Given the description of an element on the screen output the (x, y) to click on. 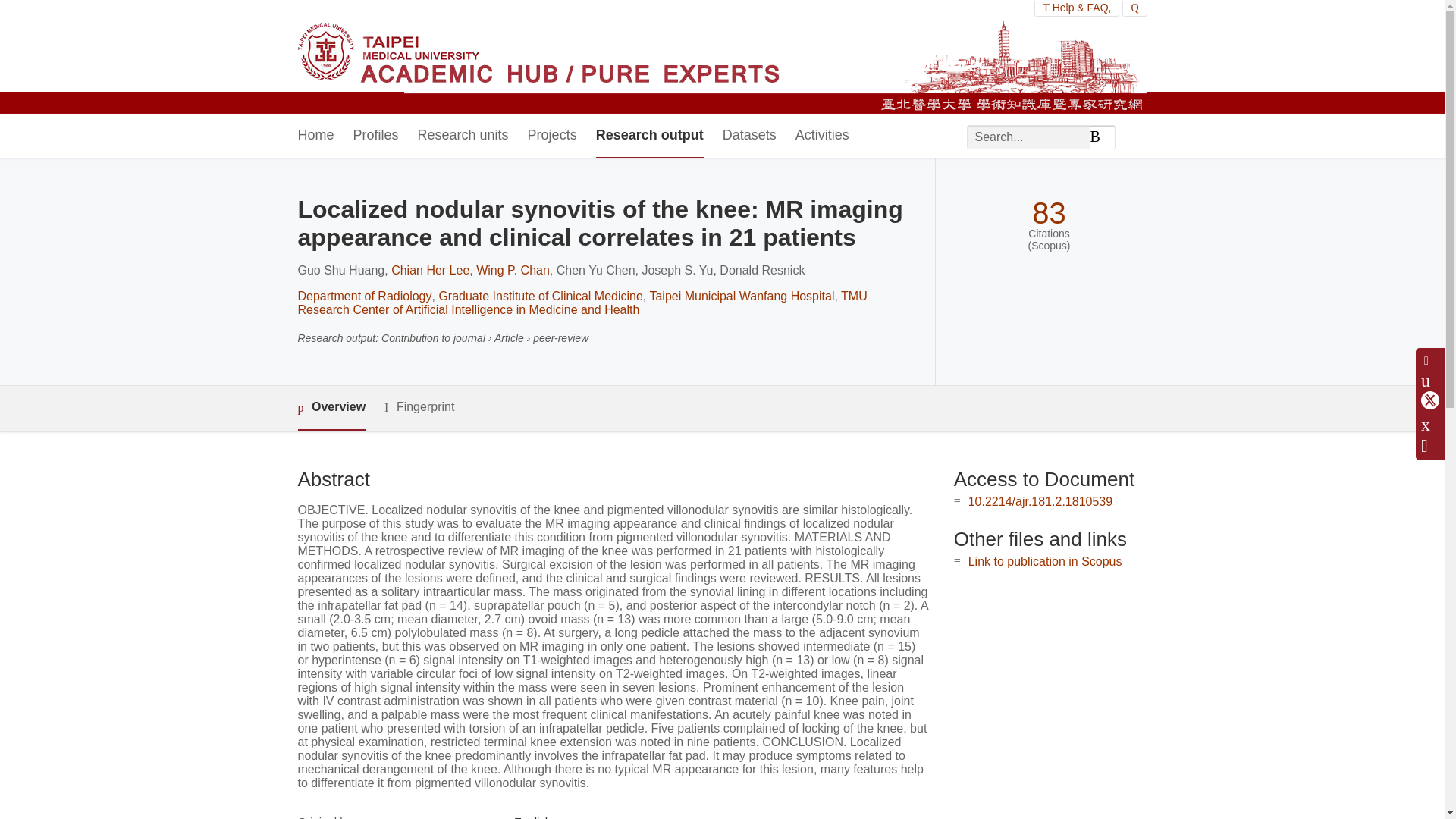
Projects (551, 135)
Activities (821, 135)
Datasets (749, 135)
Profiles (375, 135)
Link to publication in Scopus (1045, 561)
Research units (462, 135)
Wing P. Chan (513, 269)
Taipei Municipal Wanfang Hospital (741, 295)
